Given the description of an element on the screen output the (x, y) to click on. 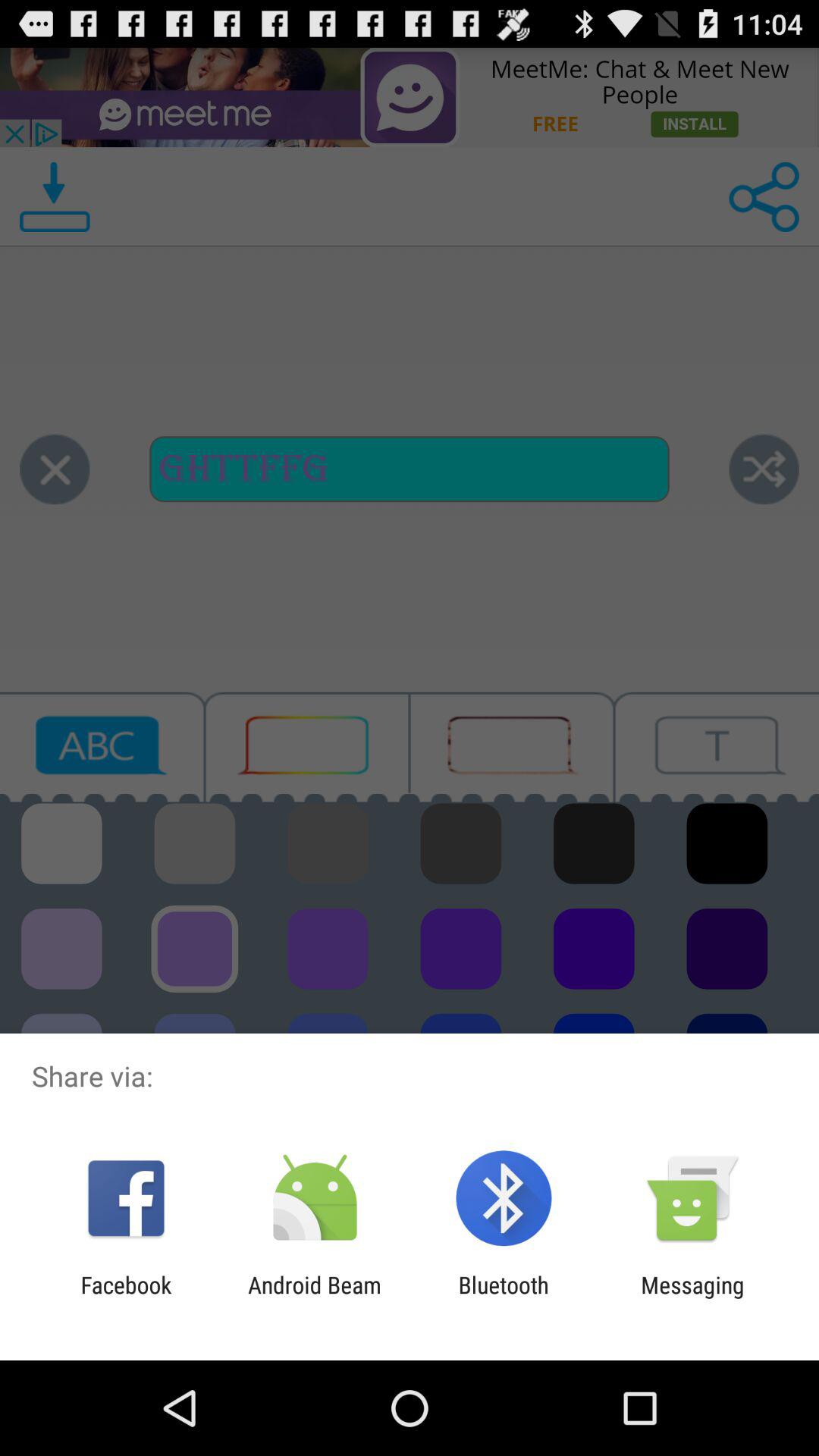
flip to android beam app (314, 1298)
